Given the description of an element on the screen output the (x, y) to click on. 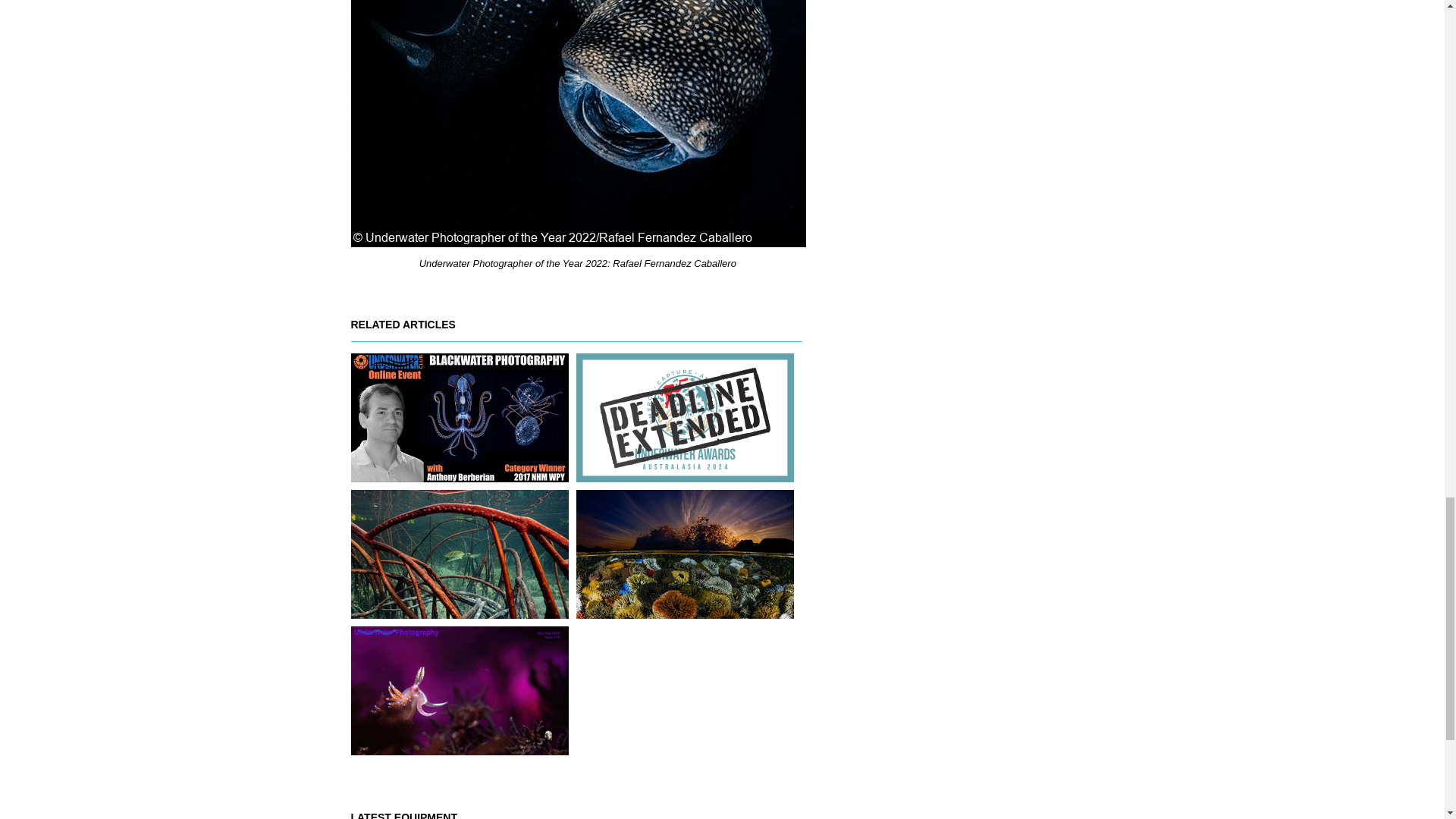
Underwater Awards Australasia 2024: Deadline Extended! (684, 417)
BigPicture Photography Competition Winners Revealed (684, 554)
Winners of the Mangrove Photography Awards 2024 Revealed (458, 554)
Issue 139 of Underwater Photography Magazine Available (458, 690)
